Given the description of an element on the screen output the (x, y) to click on. 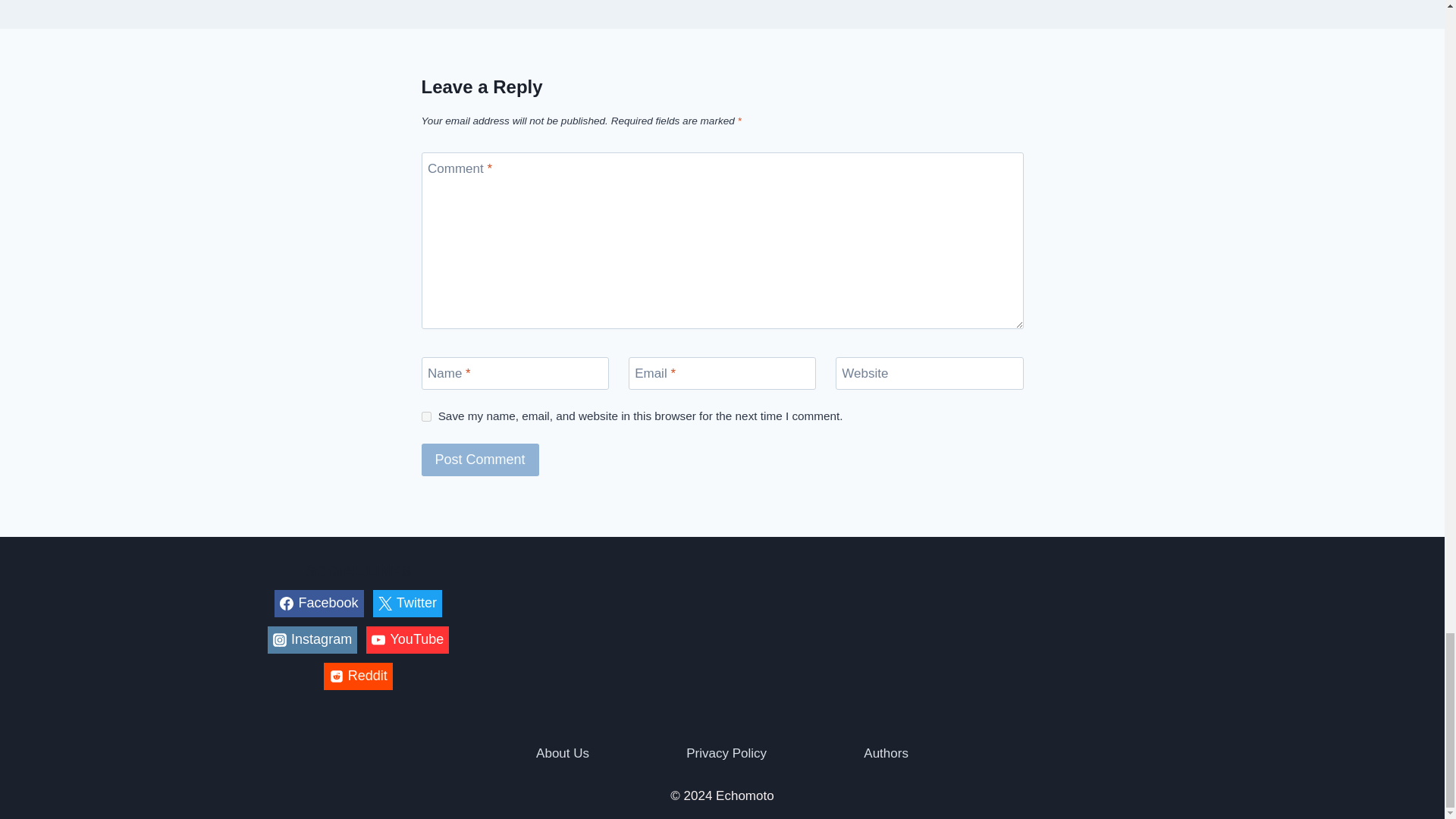
Post Comment (480, 459)
yes (426, 416)
